Given the description of an element on the screen output the (x, y) to click on. 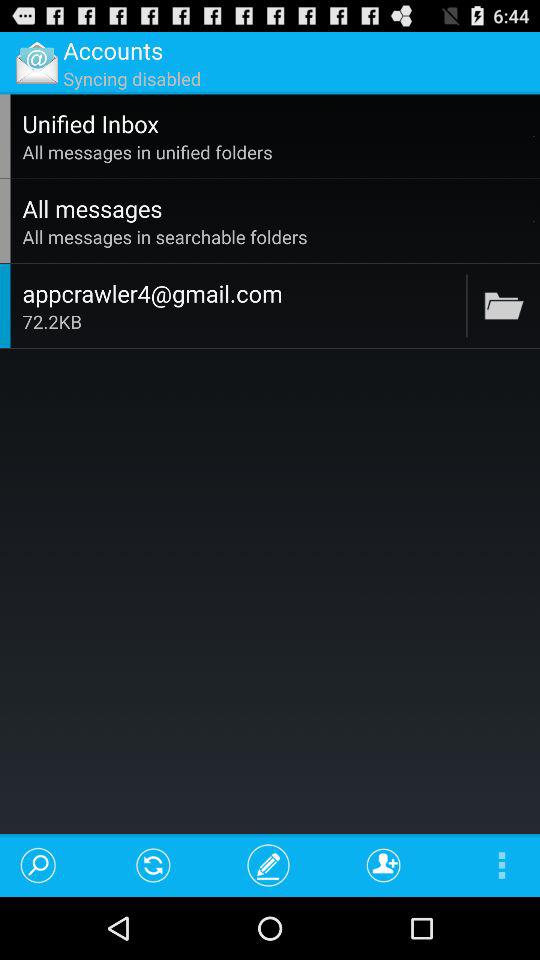
select item above the all messages in (533, 136)
